Given the description of an element on the screen output the (x, y) to click on. 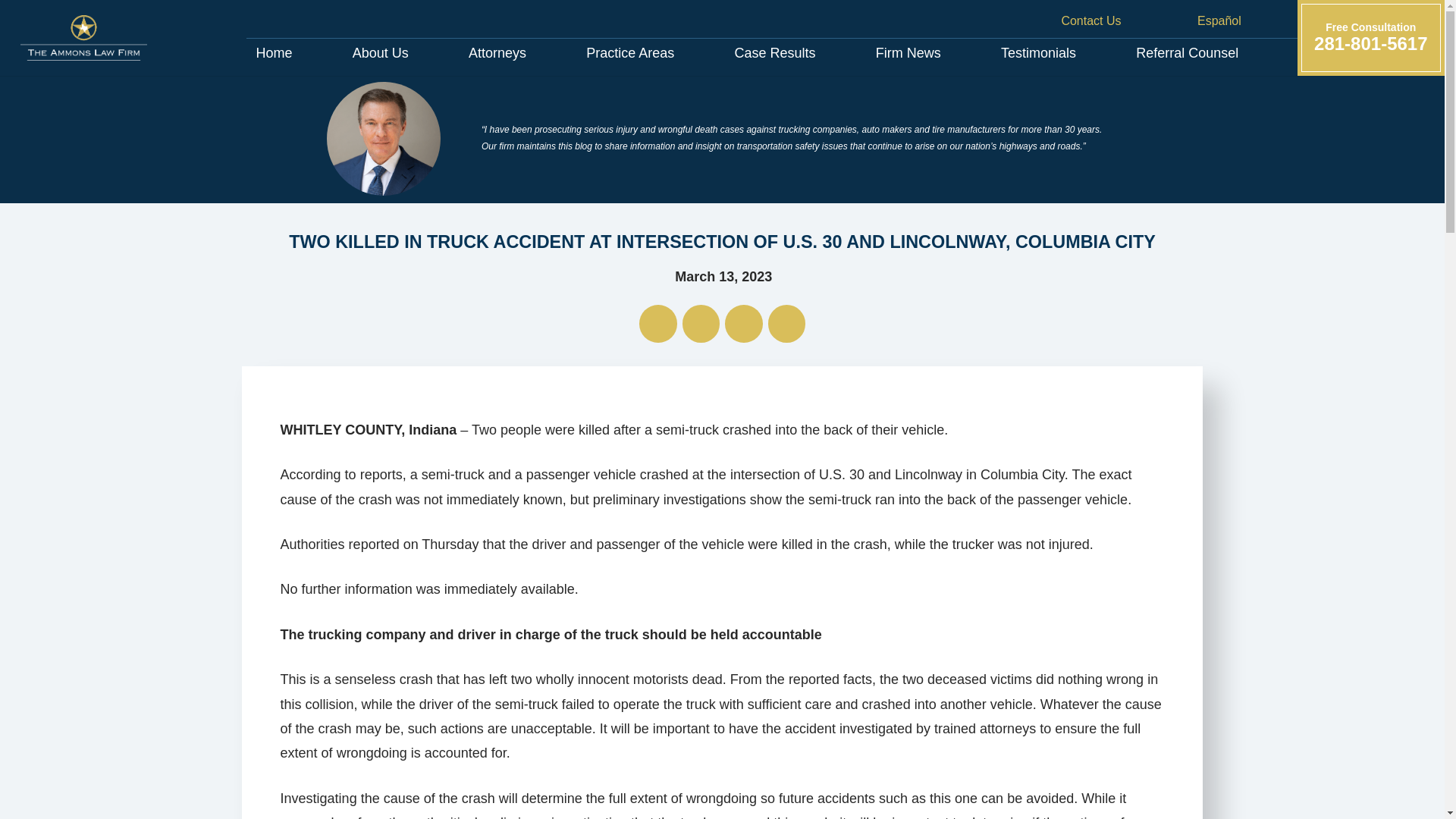
Home (273, 52)
Case Results (774, 52)
About Us (379, 52)
Referral Counsel (1187, 52)
Testimonials (1370, 37)
Contact Us (1038, 52)
Firm News (1054, 19)
Attorneys (908, 52)
Practice Areas (497, 52)
